Given the description of an element on the screen output the (x, y) to click on. 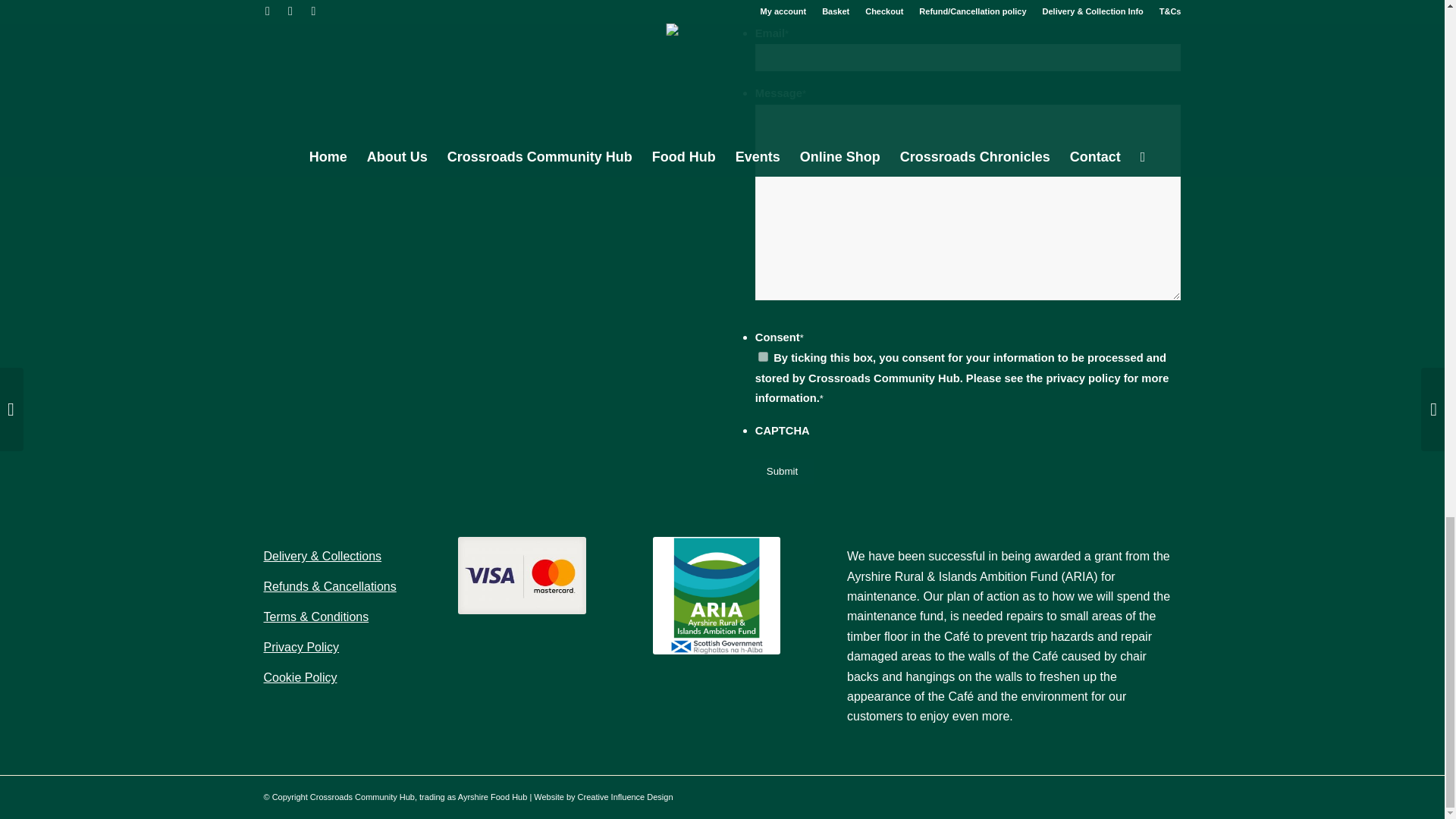
1 (763, 356)
visa-mastercard-logos (522, 575)
Website Terms and Conditions (316, 616)
Submit (781, 471)
Website Privacy Policy (301, 646)
Cookie Policy (300, 676)
